Given the description of an element on the screen output the (x, y) to click on. 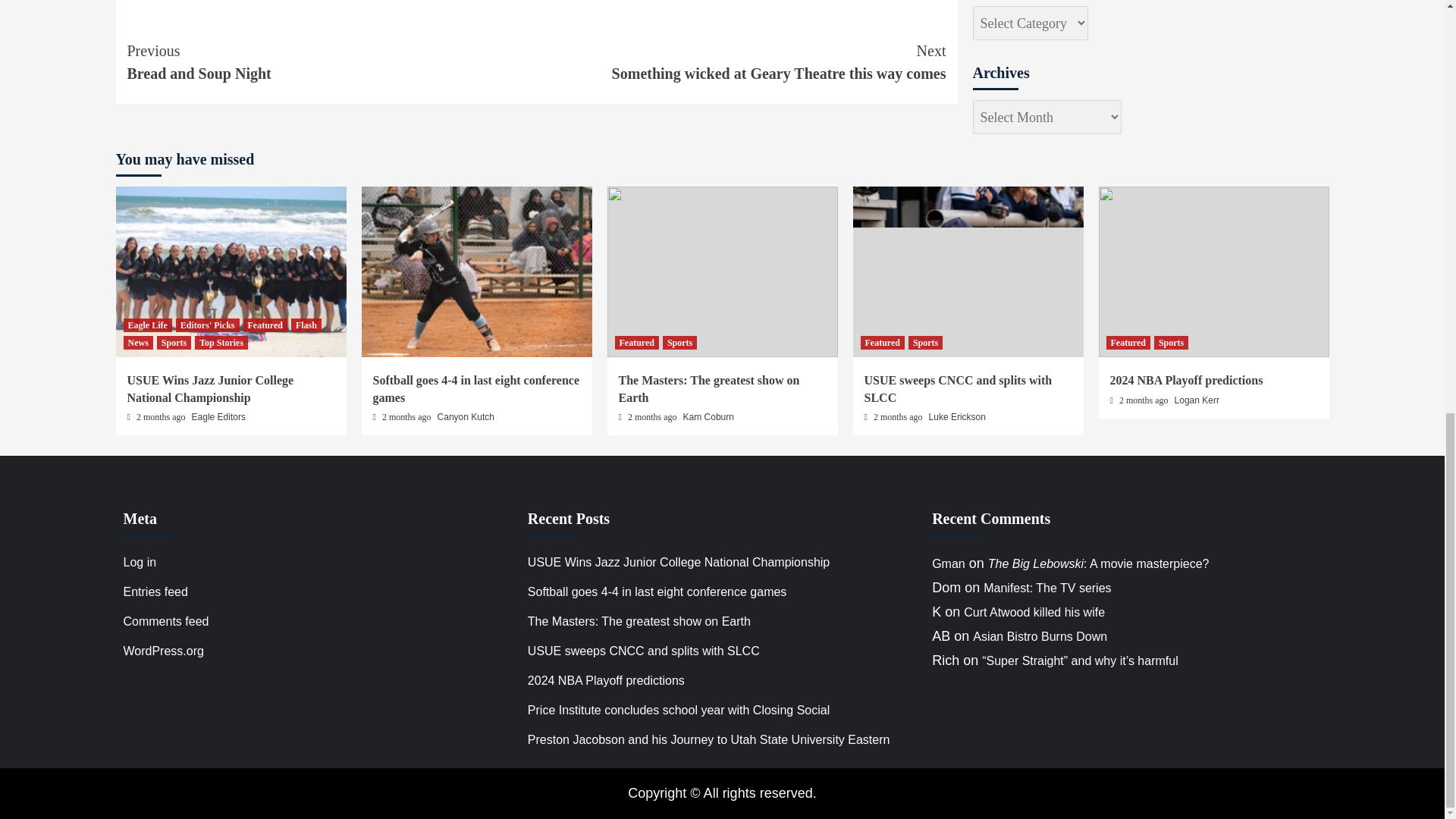
Posts by Eagle Editors (219, 416)
Posts by Canyon Kutch (466, 416)
Posts by Logan Kerr (1197, 399)
Posts by Luke Erickson (956, 416)
Posts by Kam Coburn (707, 416)
